Given the description of an element on the screen output the (x, y) to click on. 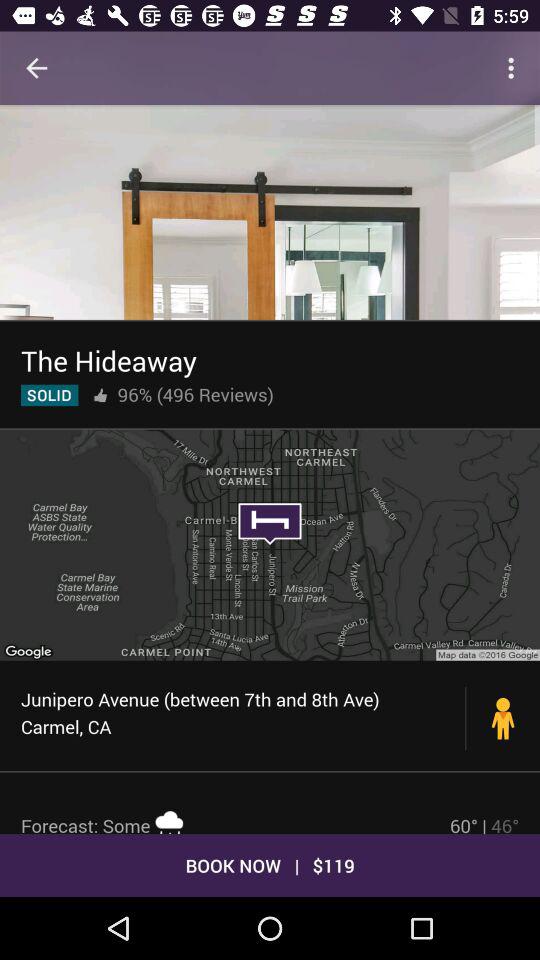
jump to the the hideaway icon (108, 360)
